Given the description of an element on the screen output the (x, y) to click on. 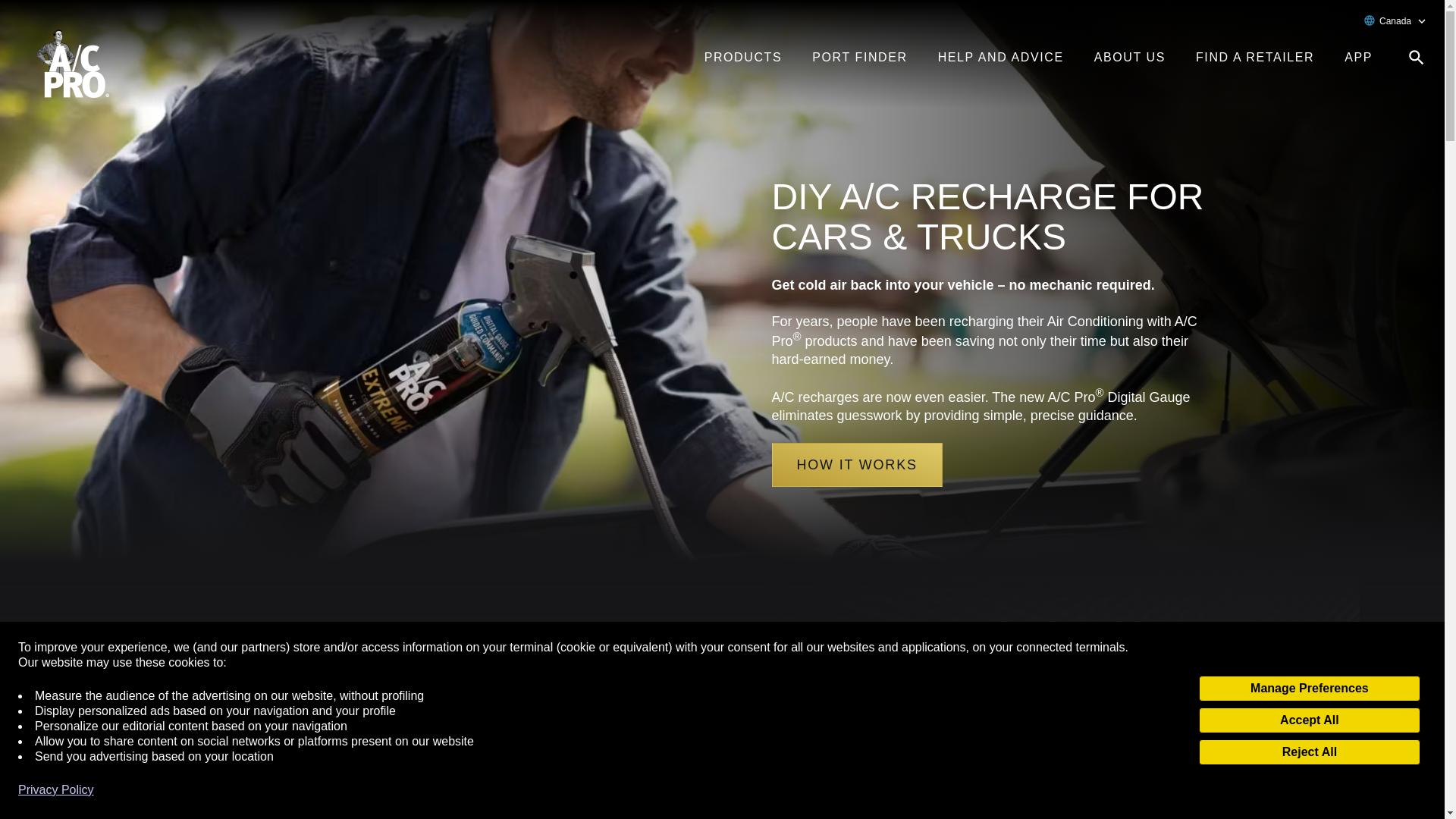
HOW IT WORKS (856, 464)
Accept All (1309, 720)
Reject All (1309, 751)
ABOUT US (1129, 57)
PORT FINDER (859, 57)
APP (1358, 57)
Privacy Policy (55, 789)
HELP AND ADVICE (1000, 57)
PRODUCTS (743, 57)
Manage Preferences (1309, 688)
